Given the description of an element on the screen output the (x, y) to click on. 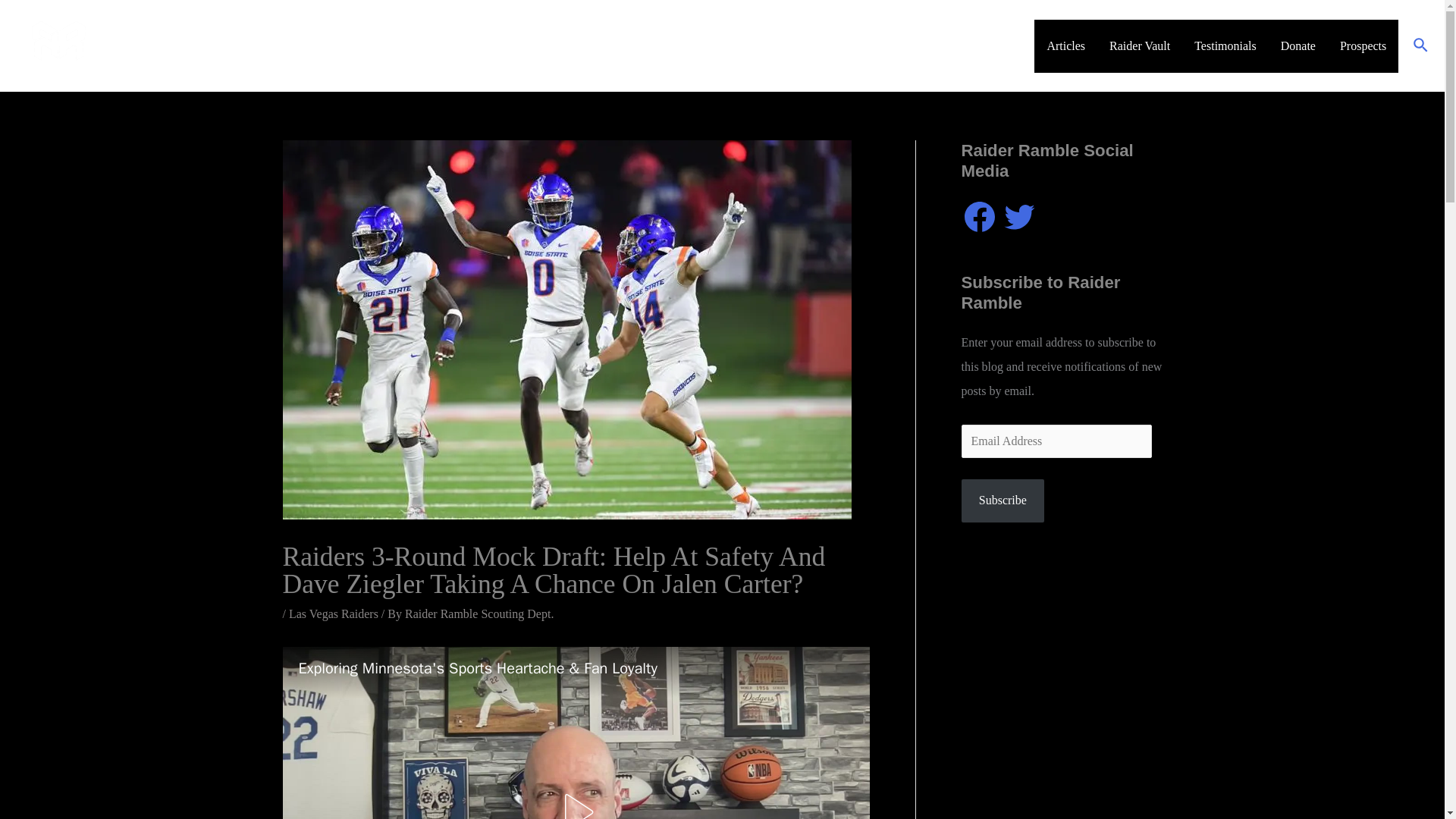
View all posts by Raider Ramble Scouting Dept. (478, 613)
Raider Vault (1139, 45)
Donate (1297, 45)
Raider Ramble Scouting Dept. (478, 613)
Las Vegas Raiders (333, 613)
Testimonials (1225, 45)
Prospects (1362, 45)
Articles (1065, 45)
